Given the description of an element on the screen output the (x, y) to click on. 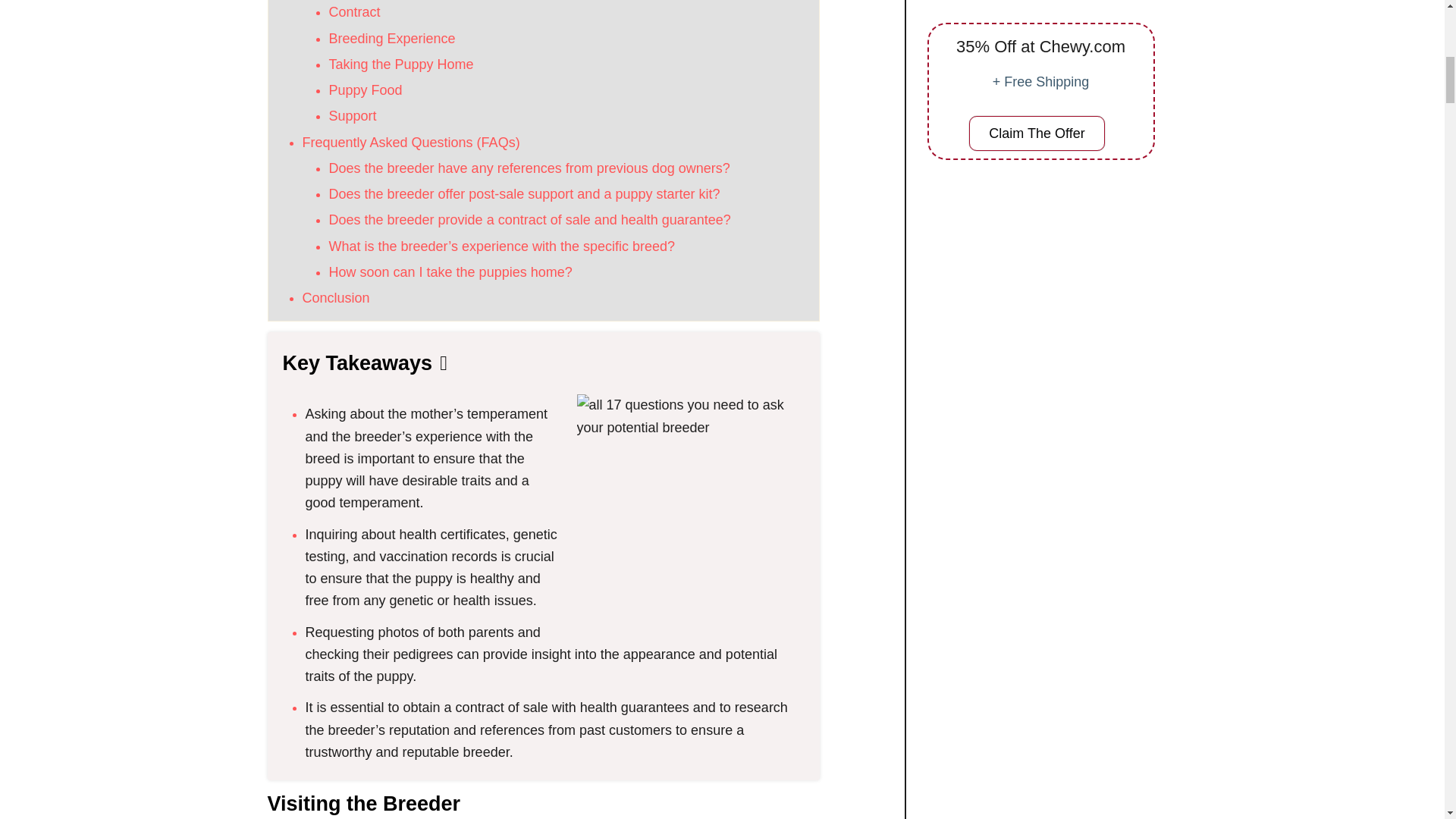
Taking the Puppy Home (401, 64)
Puppy Food (366, 89)
Support (353, 115)
Breeding Experience (392, 38)
Contract (354, 11)
